Given the description of an element on the screen output the (x, y) to click on. 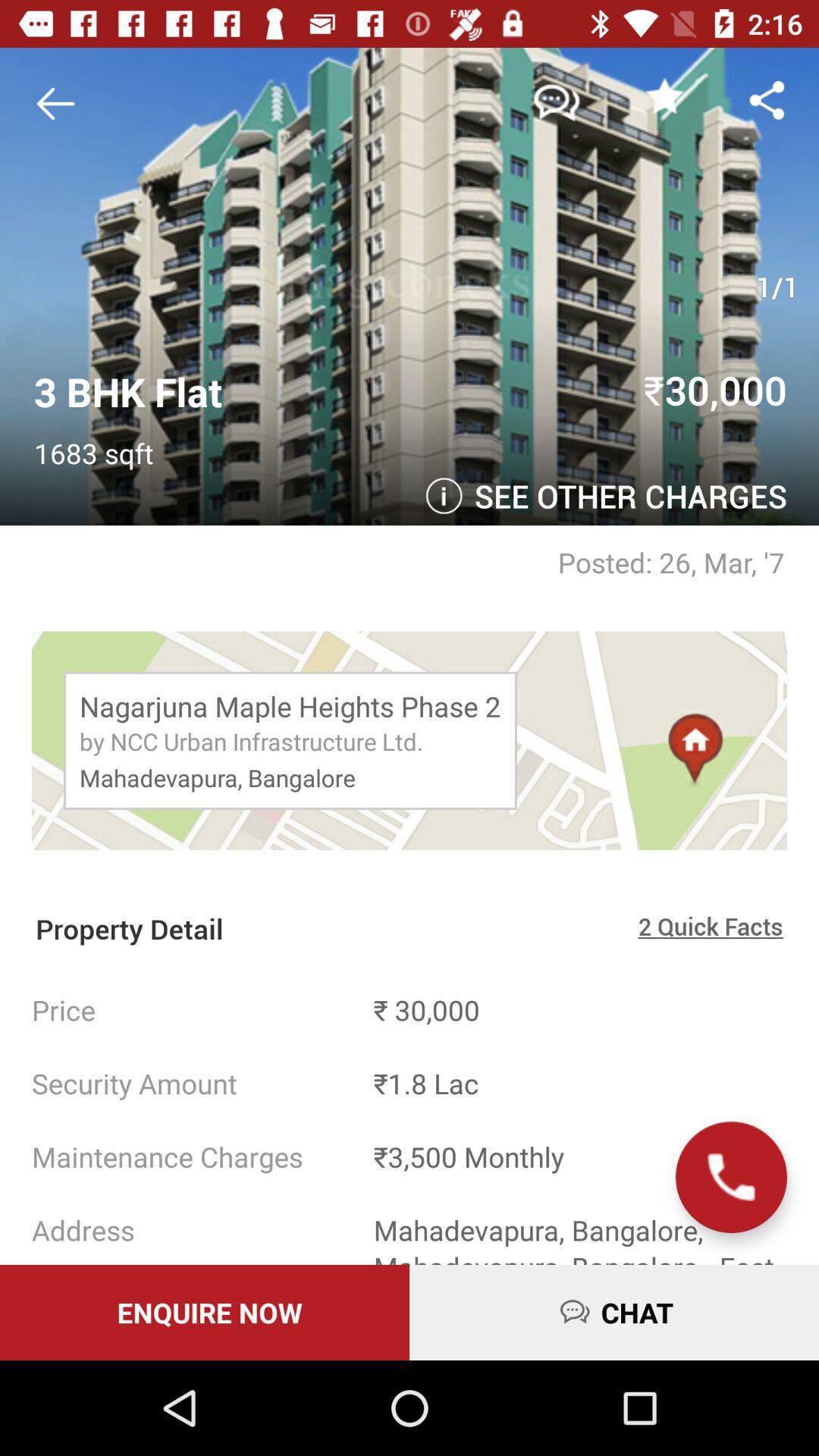
go to advertisement (60, 103)
